Given the description of an element on the screen output the (x, y) to click on. 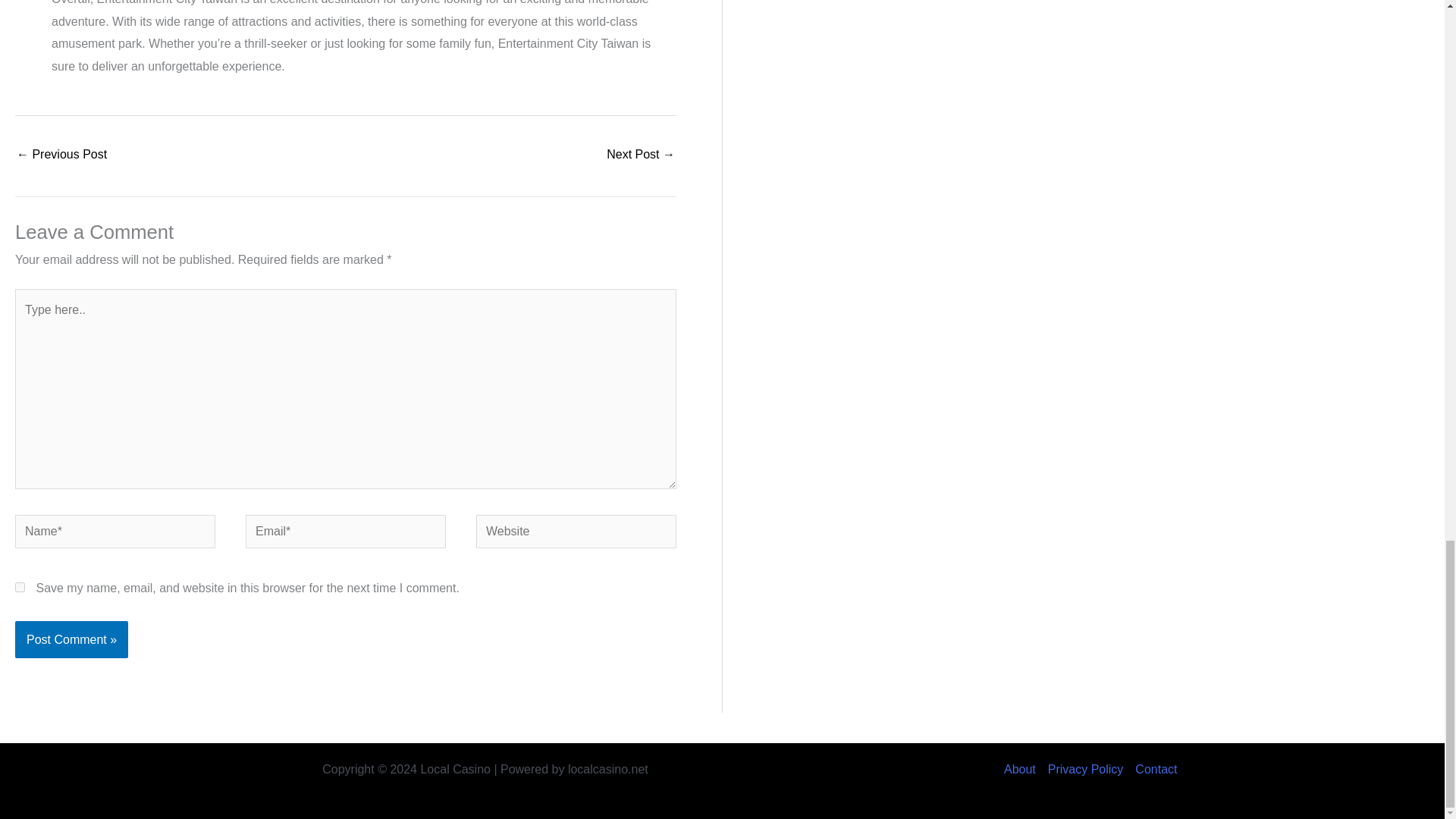
About (1023, 769)
yes (19, 587)
Digital Lottery - Taxes And Regulations (61, 155)
SBOBET Review - Judi Casino And Sports Betting (641, 155)
